Given the description of an element on the screen output the (x, y) to click on. 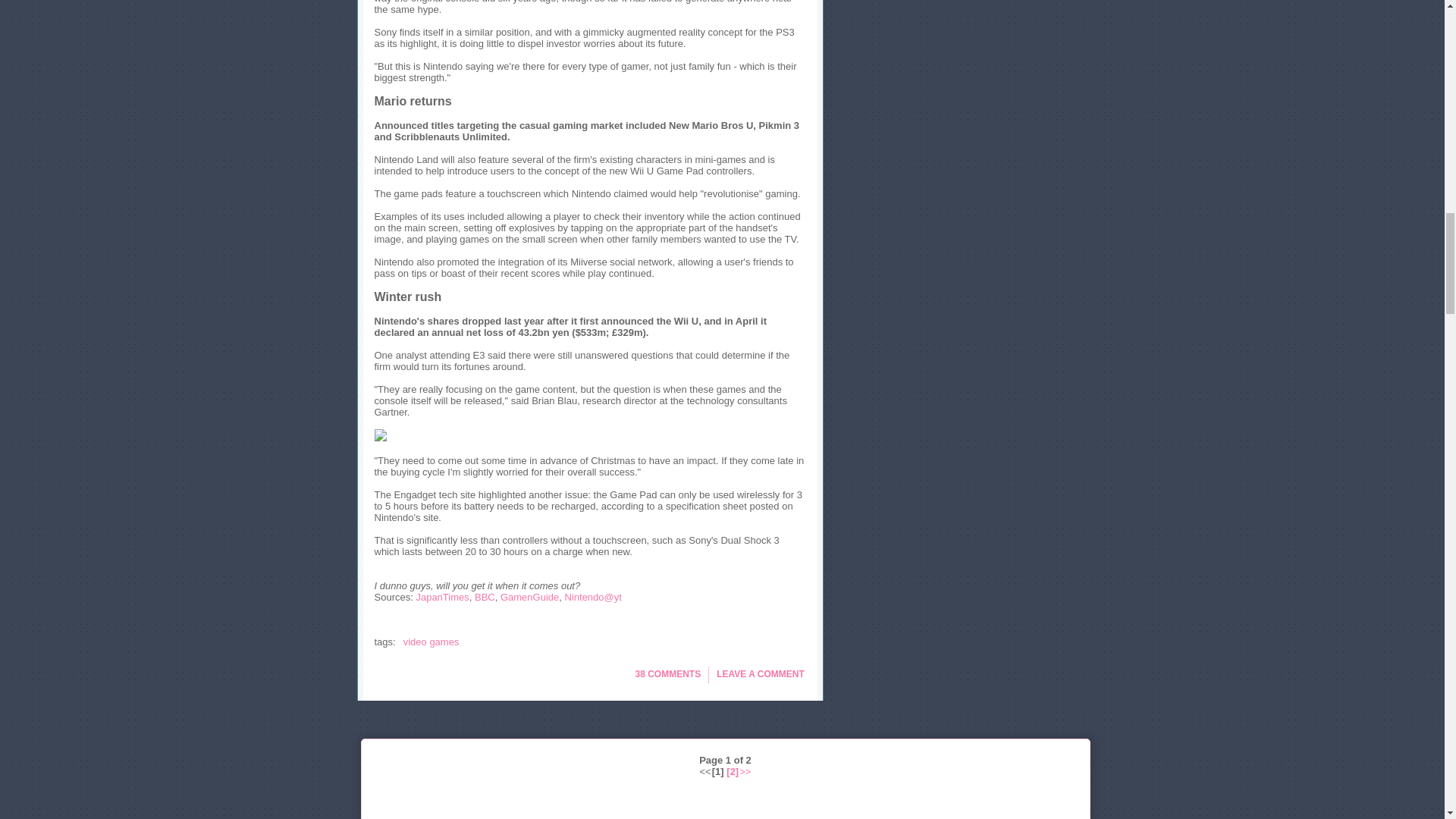
LEAVE A COMMENT (760, 675)
GamenGuide (529, 596)
video games (431, 641)
BBC (484, 596)
Send by e-mail (461, 713)
38 COMMENTS (667, 675)
JapanTimes (441, 596)
